Given the description of an element on the screen output the (x, y) to click on. 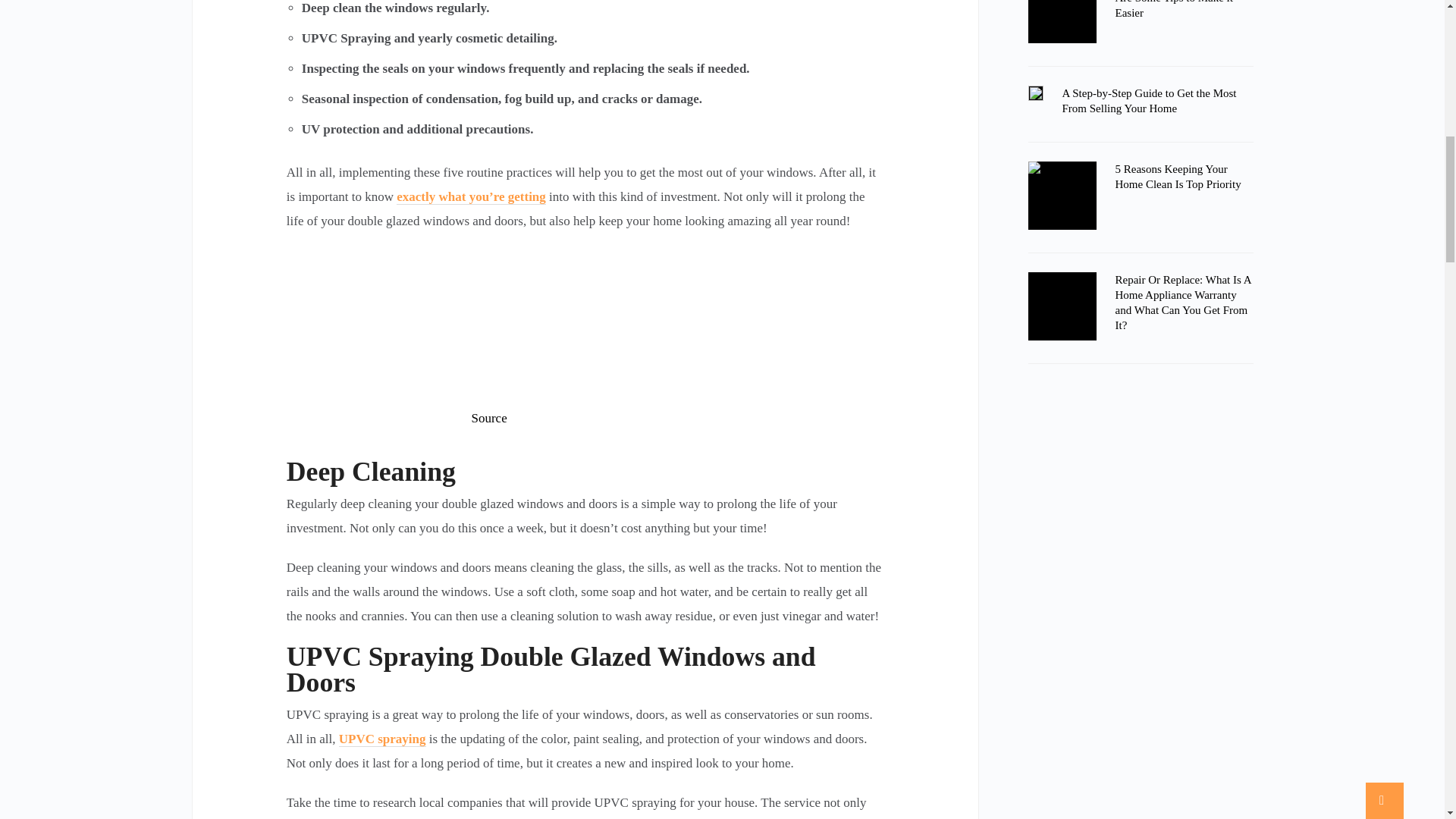
UPVC spraying (382, 739)
Double Glazed Windows and Doors Exterior home (584, 323)
Source (488, 418)
